Given the description of an element on the screen output the (x, y) to click on. 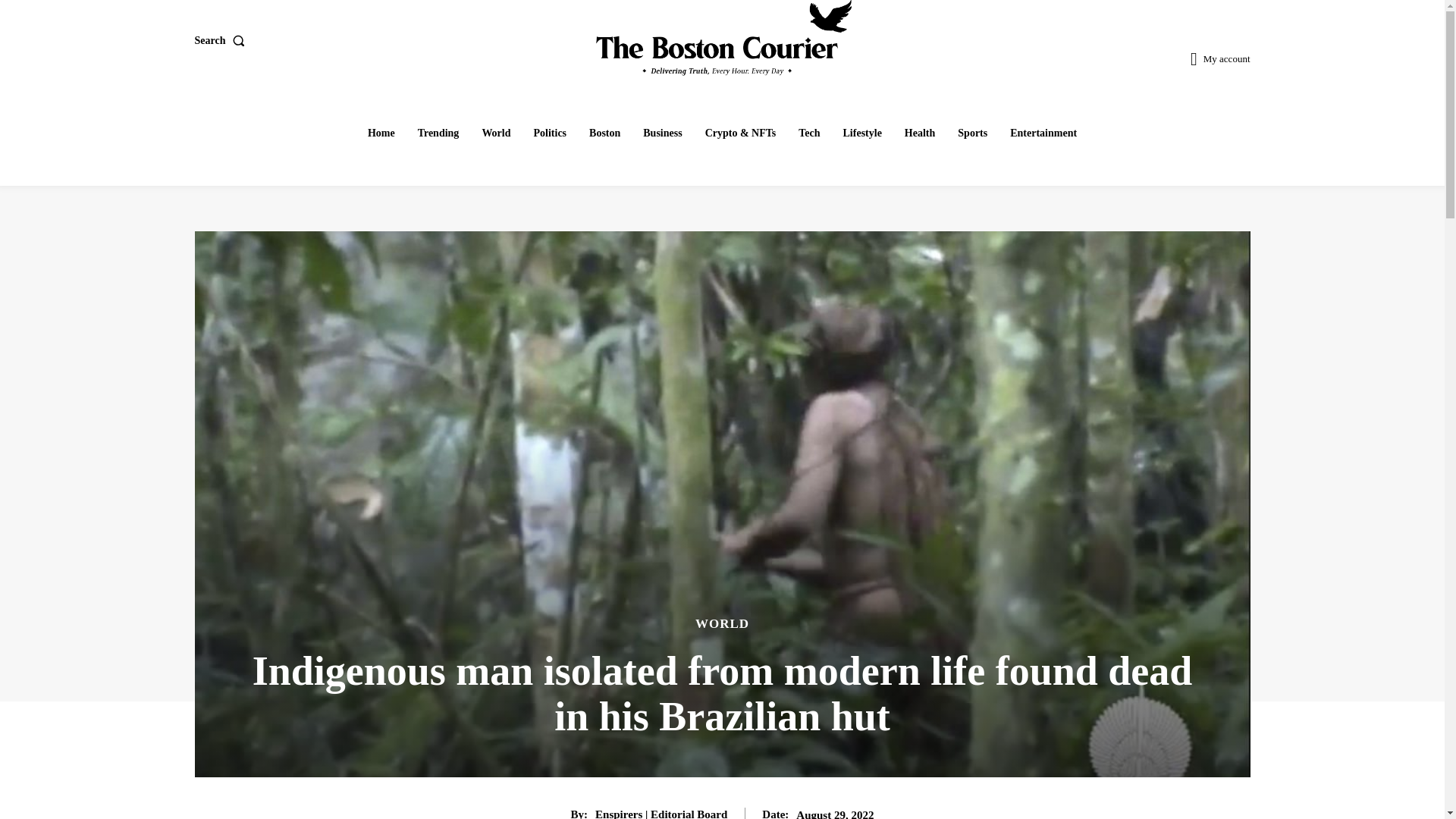
Trending (438, 133)
Search (221, 40)
Home (381, 133)
